Given the description of an element on the screen output the (x, y) to click on. 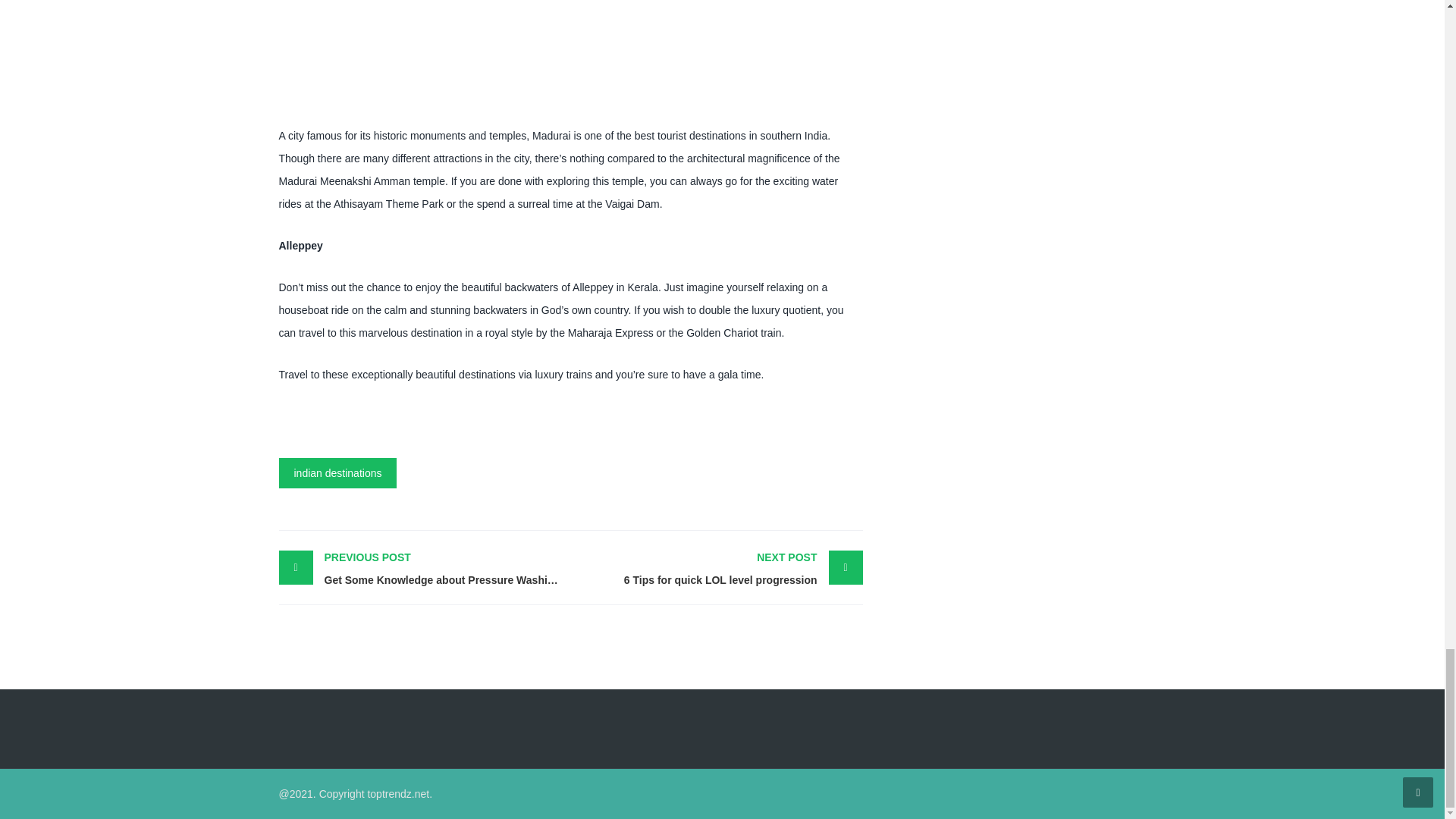
indian destinations (338, 472)
